Given the description of an element on the screen output the (x, y) to click on. 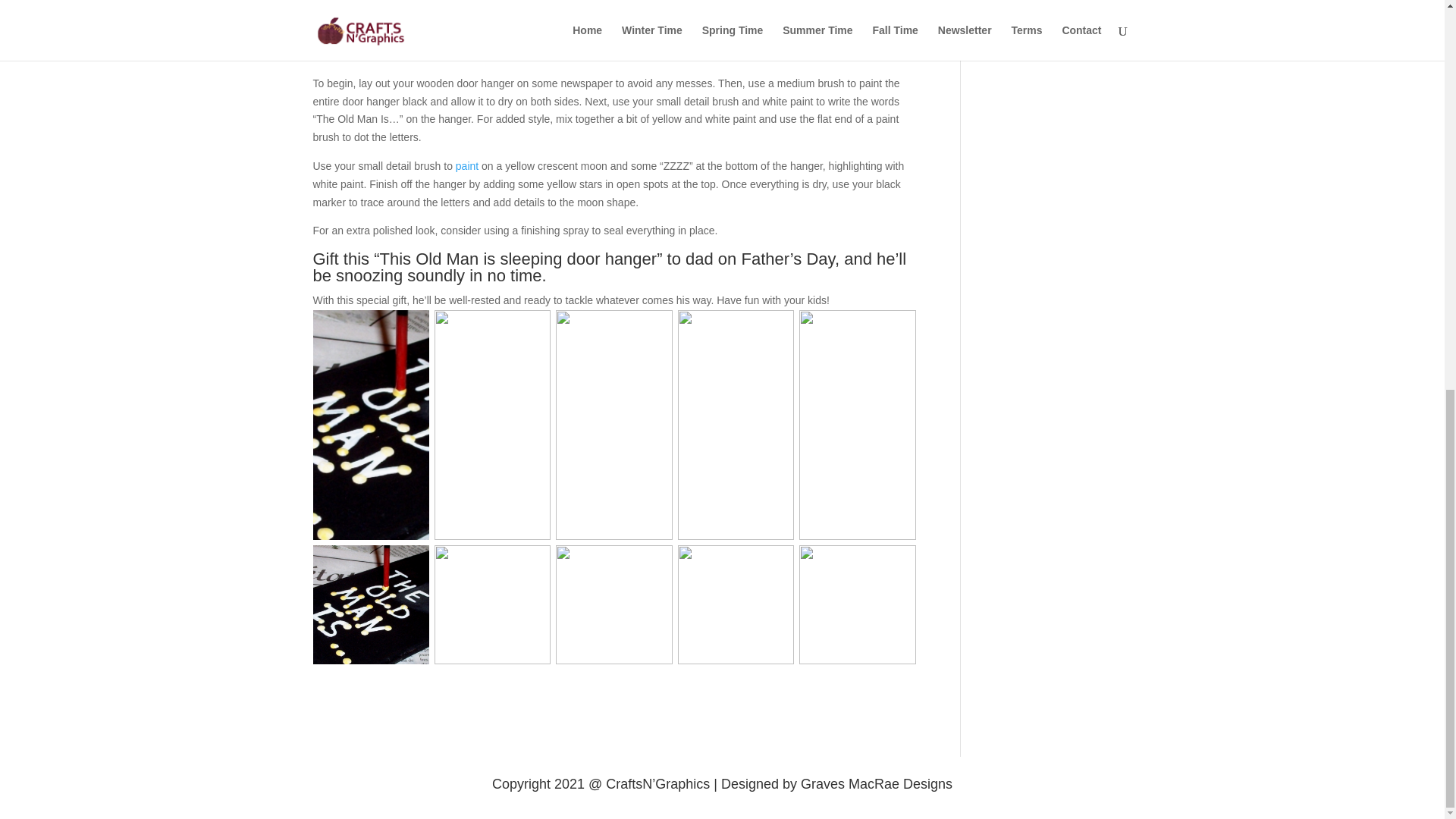
paint (467, 165)
Graves MacRae Designs (876, 783)
